Given the description of an element on the screen output the (x, y) to click on. 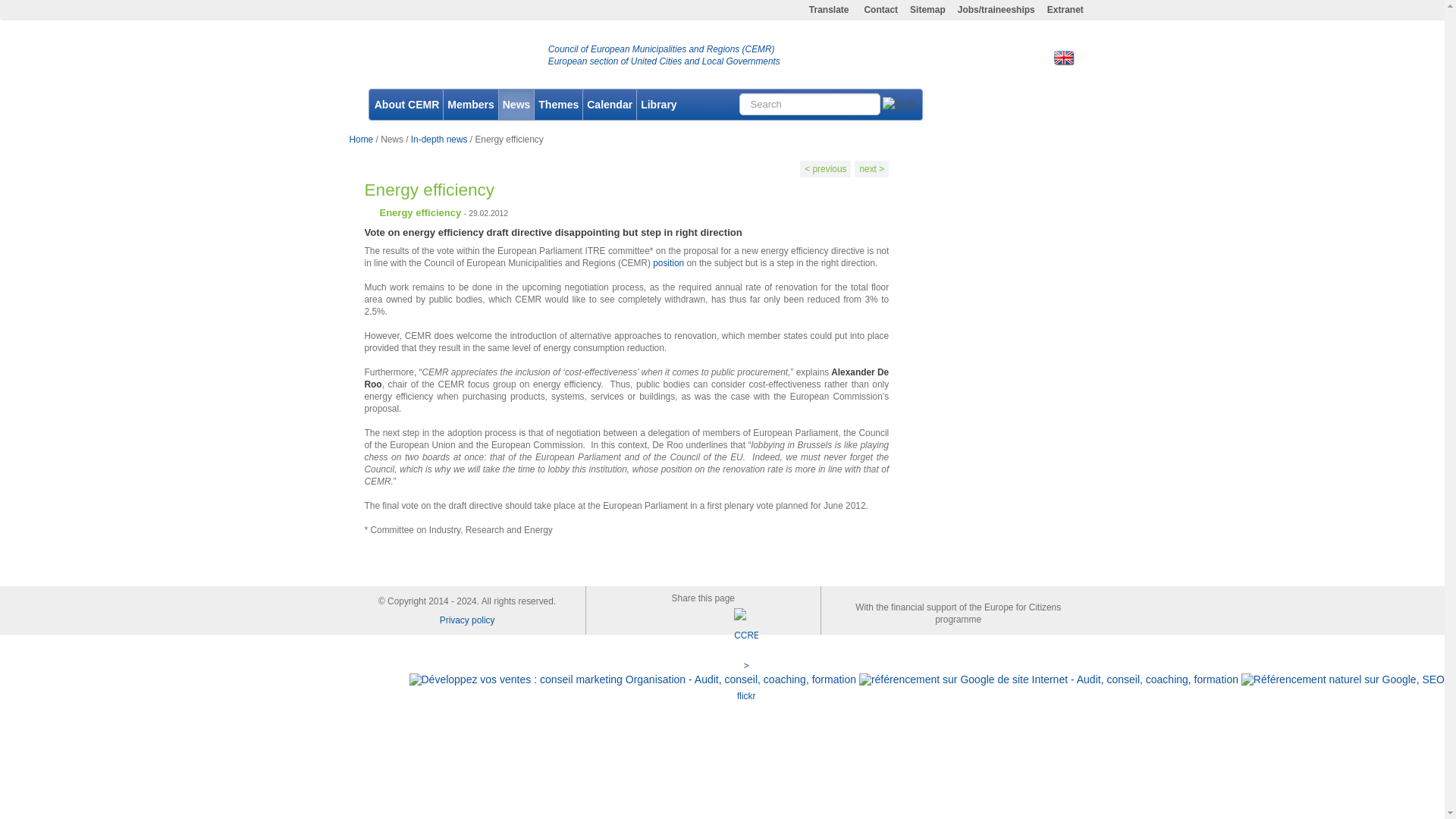
Extranet (1065, 10)
Sitemap (928, 10)
Translate (829, 10)
Contact (880, 10)
